Given the description of an element on the screen output the (x, y) to click on. 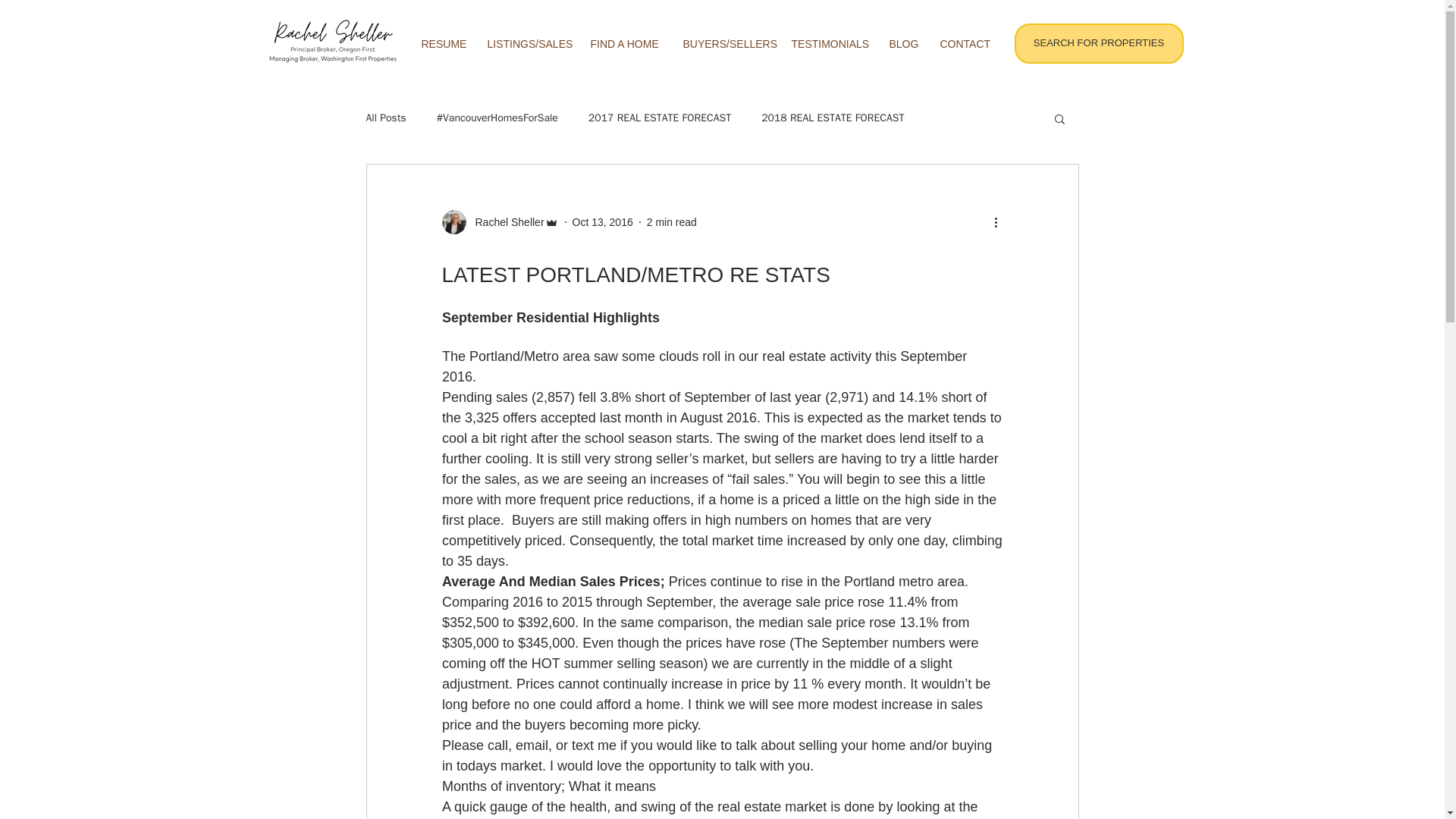
2 min read (671, 221)
New Branding - Rachel.png (332, 42)
2018 REAL ESTATE FORECAST (832, 118)
2017 REAL ESTATE FORECAST (659, 118)
Oct 13, 2016 (602, 221)
CONTACT (963, 43)
SEARCH FOR PROPERTIES (1098, 43)
Rachel Sheller (504, 221)
FIND A HOME (625, 43)
BLOG (902, 43)
All Posts (385, 118)
RESUME (442, 43)
TESTIMONIALS (827, 43)
